Given the description of an element on the screen output the (x, y) to click on. 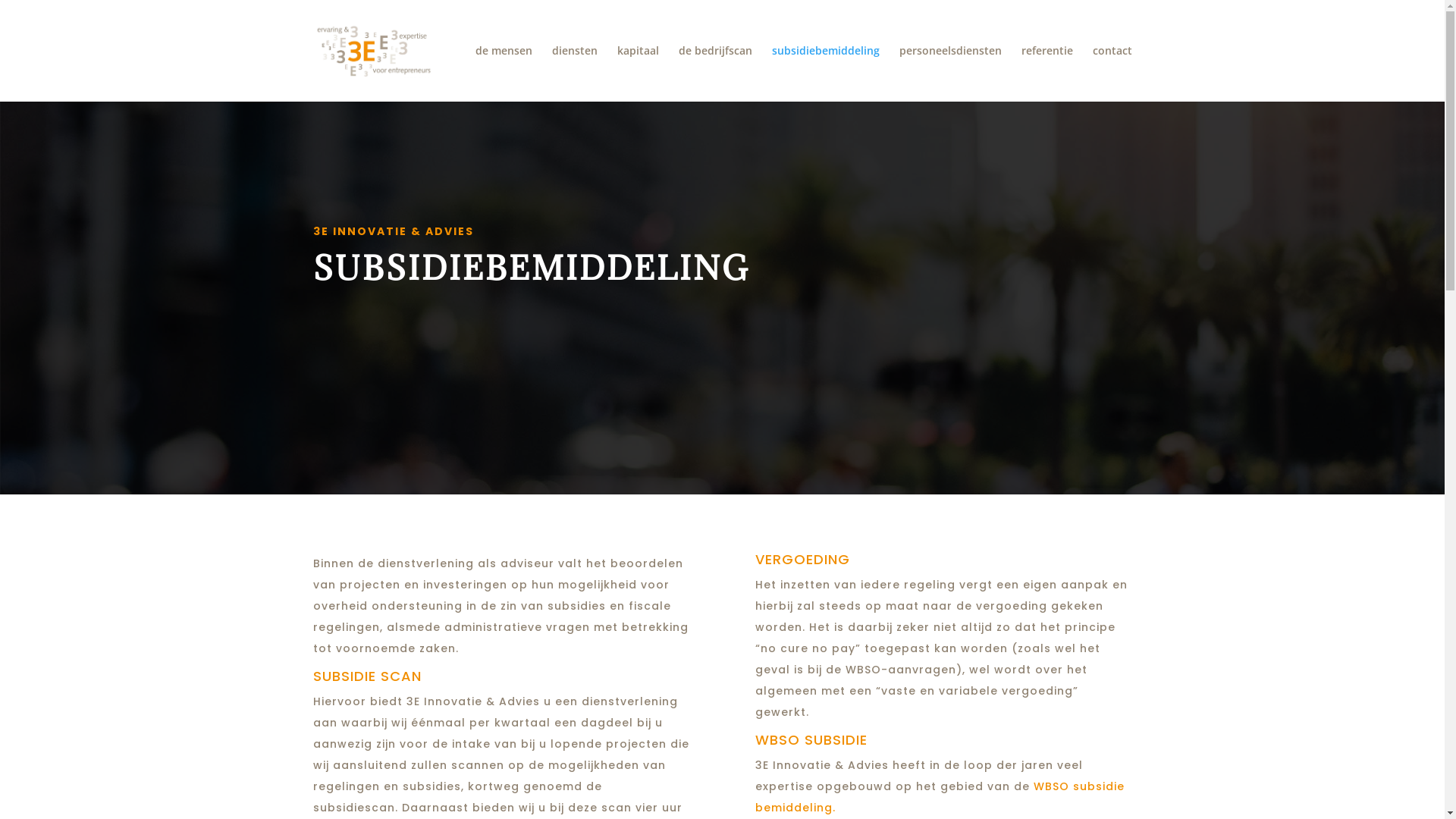
kapitaal Element type: text (637, 73)
diensten Element type: text (574, 73)
WBSO subsidie bemiddeling. Element type: text (939, 796)
de mensen Element type: text (502, 73)
personeelsdiensten Element type: text (950, 73)
subsidiebemiddeling Element type: text (825, 73)
contact Element type: text (1111, 73)
referentie Element type: text (1046, 73)
de bedrijfscan Element type: text (714, 73)
